Given the description of an element on the screen output the (x, y) to click on. 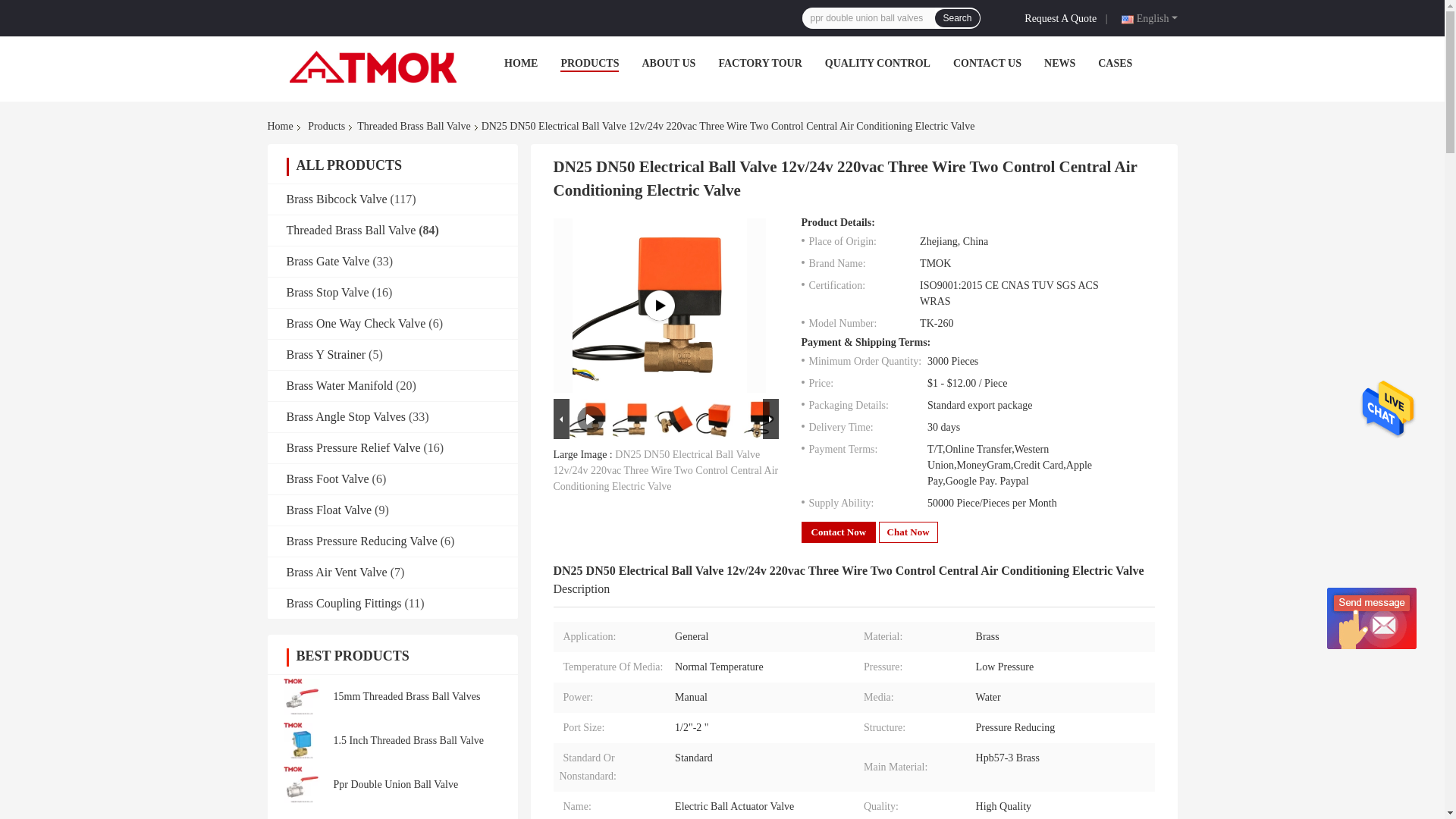
Brass One Way Check Valve (356, 323)
CONTACT US (987, 62)
Brass Stop Valve (327, 291)
ABOUT US (668, 62)
Brass Gate Valve (327, 260)
Search (956, 18)
Brass Y Strainer (326, 354)
PRODUCTS (589, 62)
Brass Bibcock Valve (336, 198)
HOME (520, 62)
Products (325, 126)
QUALITY CONTROL (877, 62)
CASES (1114, 62)
Request A Quote (1063, 17)
Threaded Brass Ball Valve (413, 126)
